Given the description of an element on the screen output the (x, y) to click on. 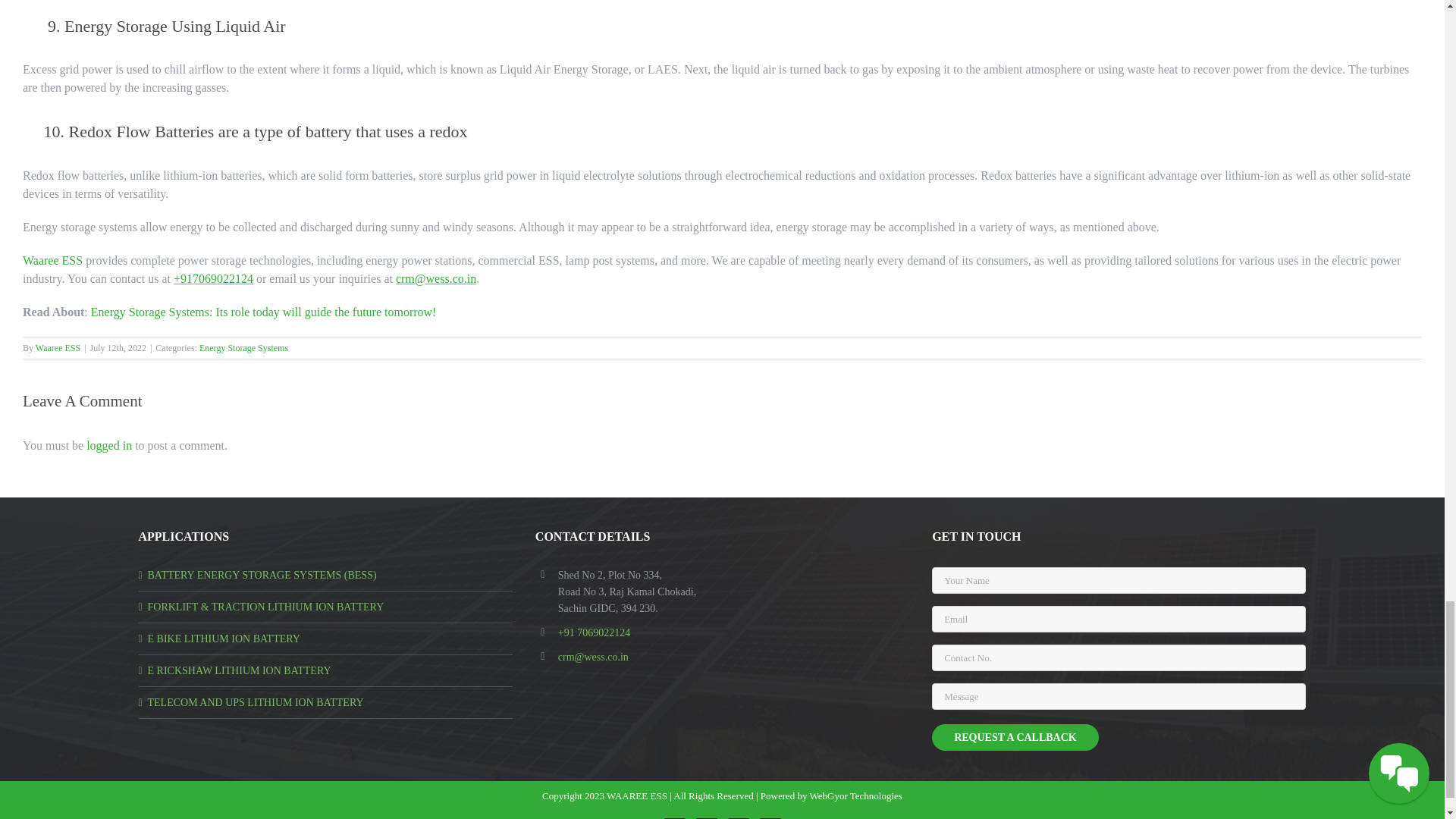
REQUEST A CALLBACK (1015, 737)
Posts by Waaree ESS (57, 347)
